Given the description of an element on the screen output the (x, y) to click on. 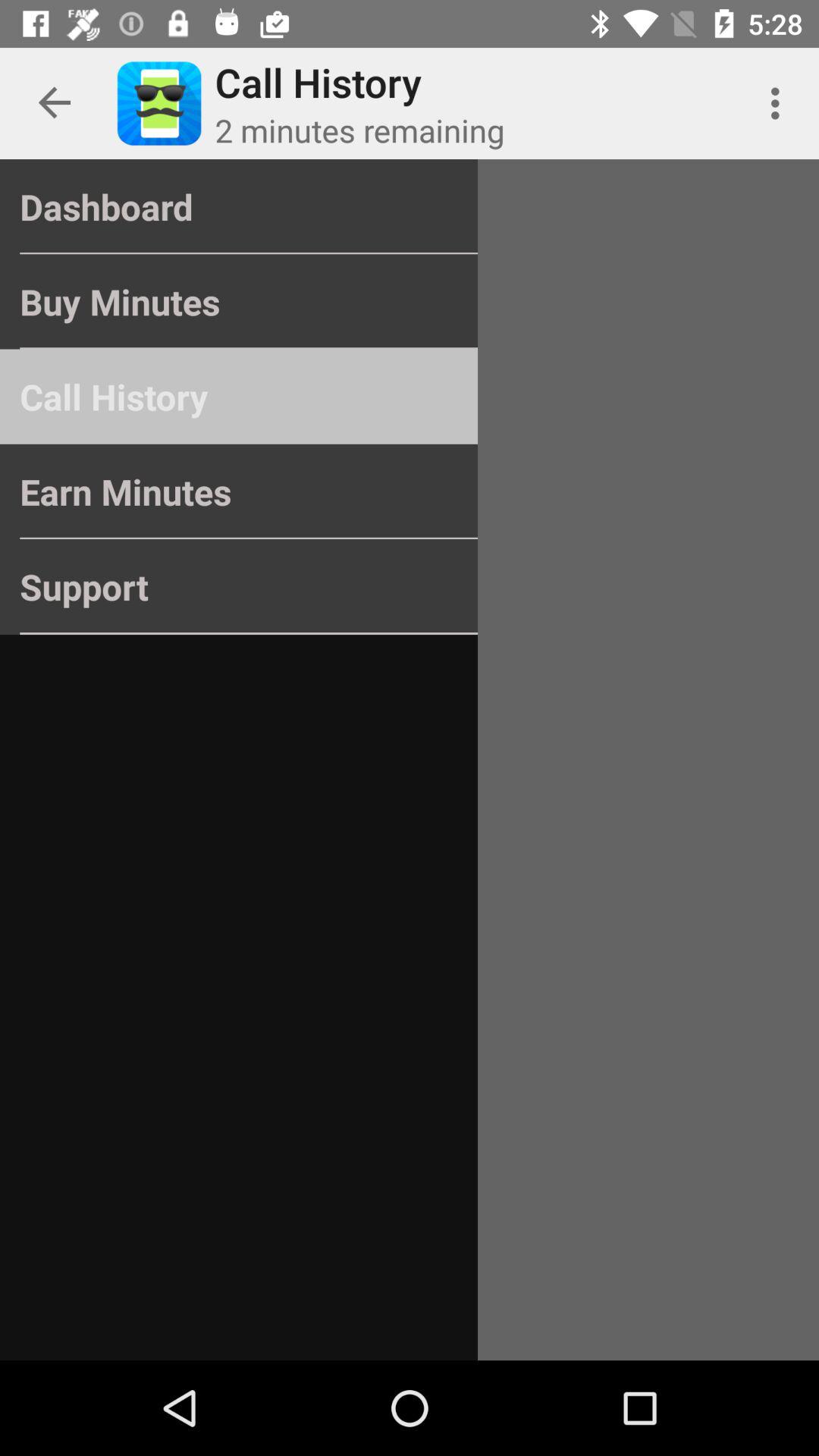
tap buy minutes (238, 301)
